Given the description of an element on the screen output the (x, y) to click on. 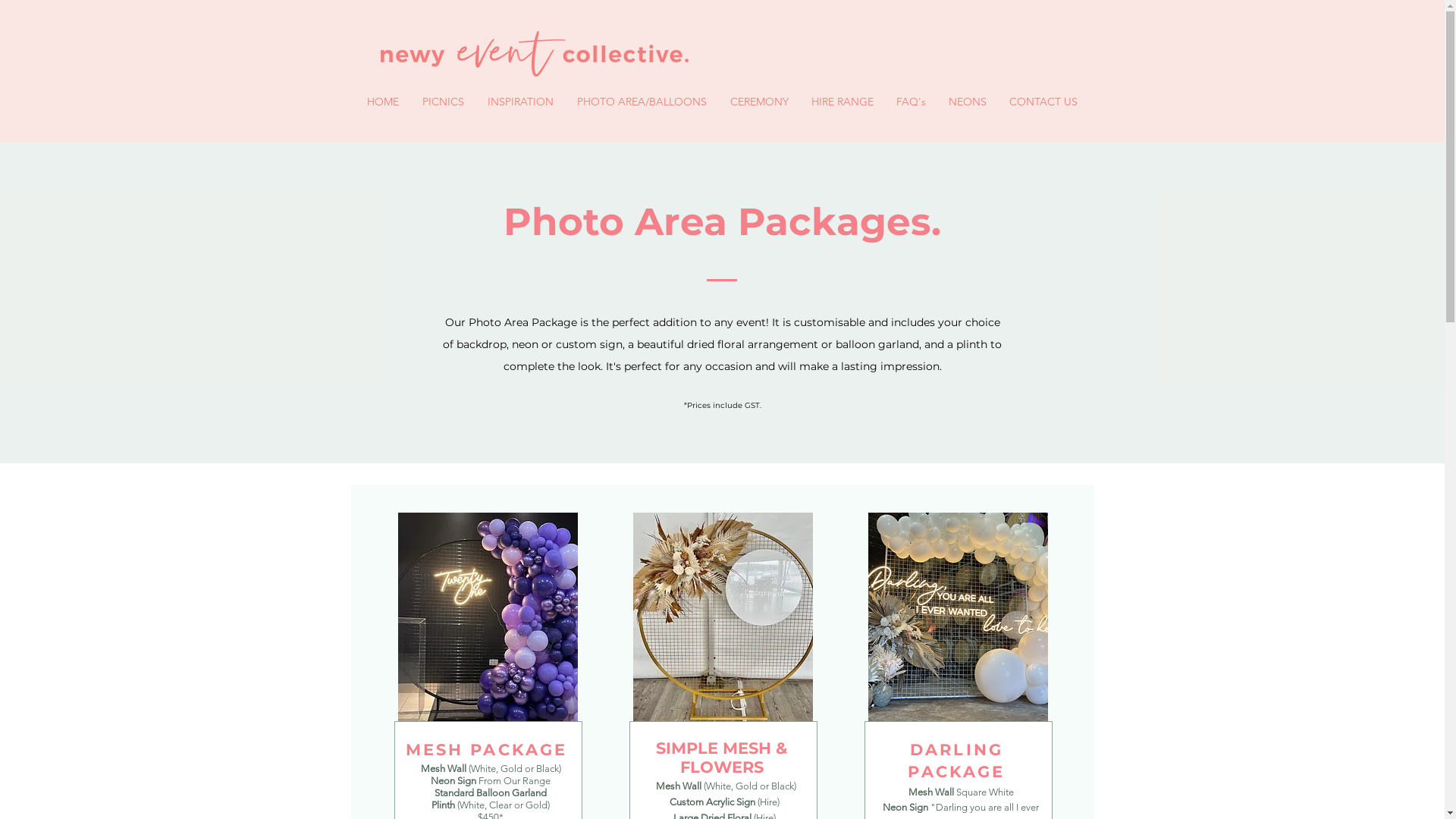
NEONS Element type: text (967, 101)
CONTACT US Element type: text (1042, 101)
HOME Element type: text (382, 101)
CEREMONY Element type: text (759, 101)
PICNICS Element type: text (443, 101)
PHOTO AREA/BALLOONS Element type: text (641, 101)
FAQ's Element type: text (910, 101)
INSPIRATION Element type: text (520, 101)
HIRE RANGE Element type: text (841, 101)
